Given the description of an element on the screen output the (x, y) to click on. 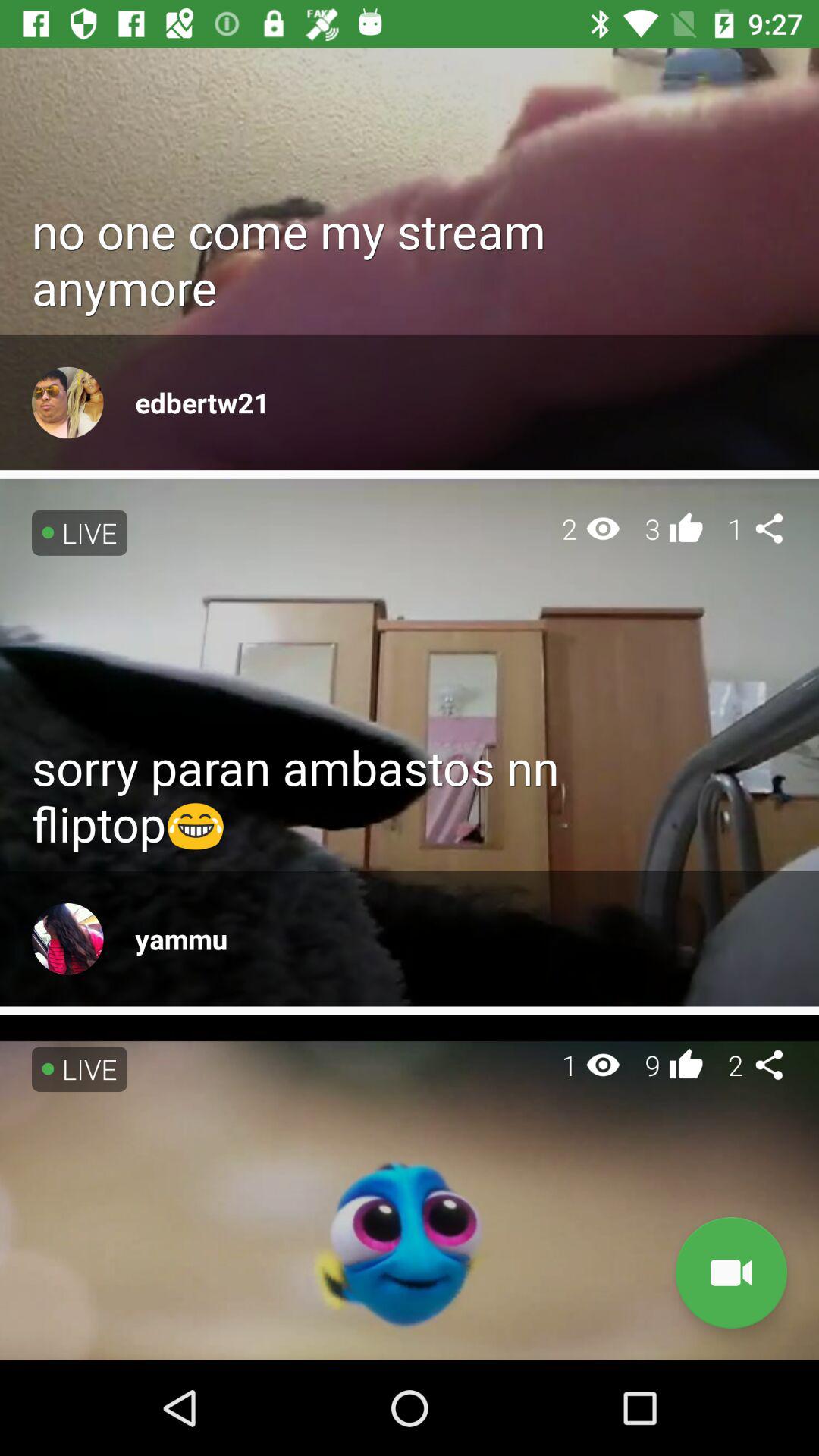
turn off item below the 2 item (731, 1272)
